Given the description of an element on the screen output the (x, y) to click on. 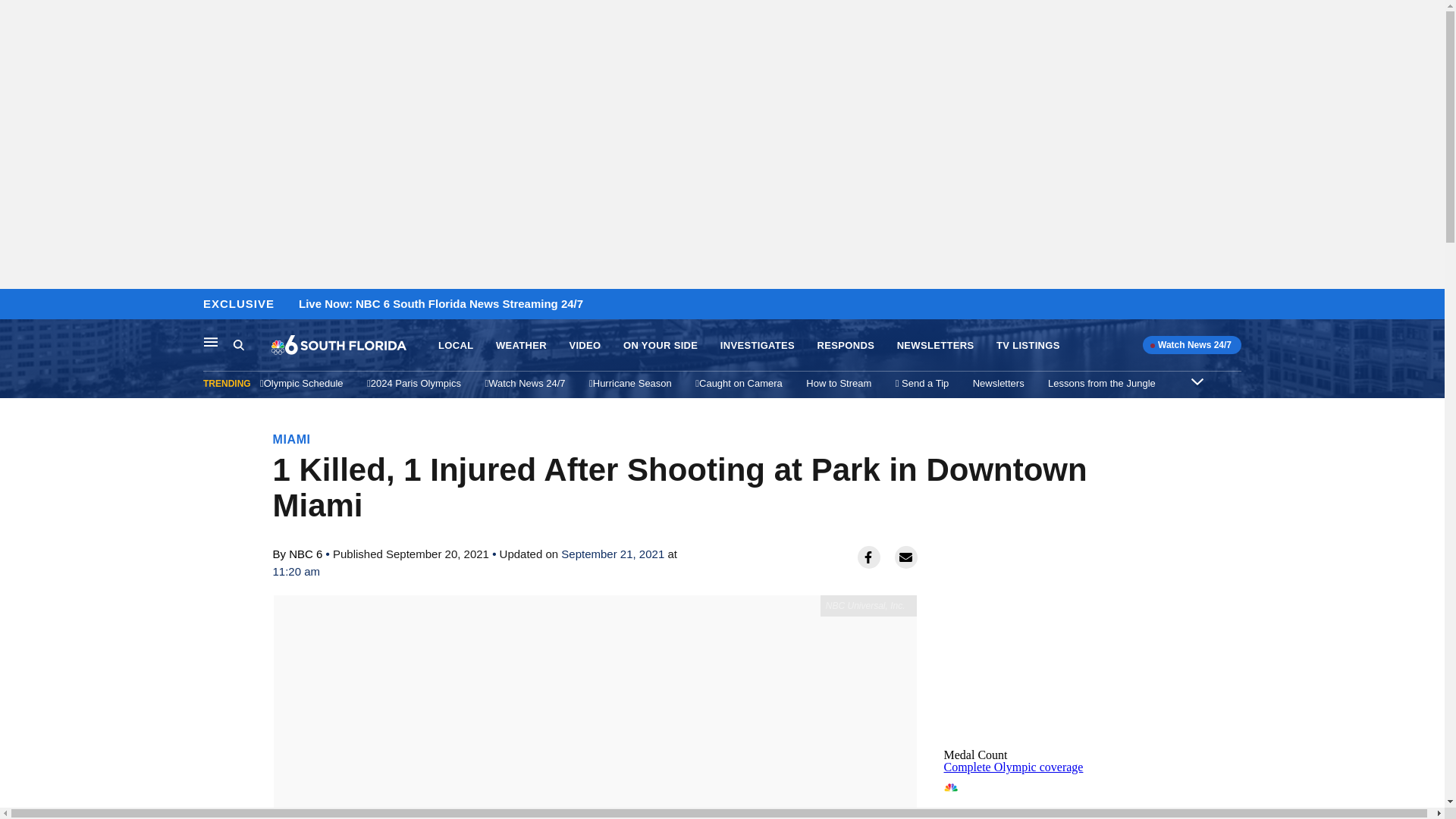
Main Navigation (210, 341)
ON YOUR SIDE (1056, 796)
How to Stream (660, 345)
VIDEO (838, 383)
NEWSLETTERS (584, 345)
RESPONDS (935, 345)
WEATHER (845, 345)
MIAMI (521, 345)
Lessons from the Jungle (292, 439)
Search (1102, 383)
INVESTIGATES (238, 344)
TV LISTINGS (757, 345)
Search (1027, 345)
LOCAL (252, 345)
